Given the description of an element on the screen output the (x, y) to click on. 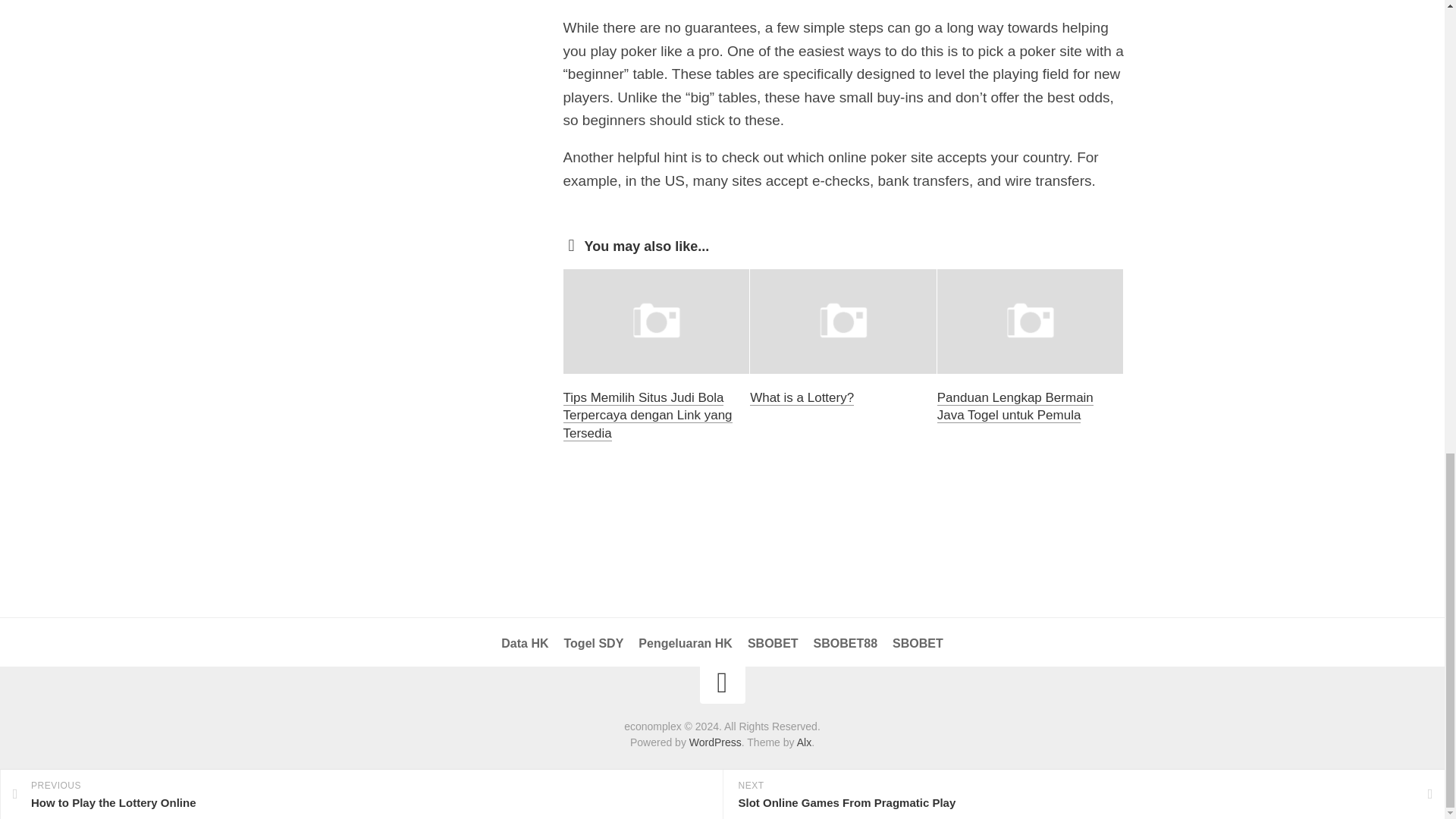
Pengeluaran HK (685, 643)
SBOBET88 (845, 643)
SBOBET (772, 643)
Panduan Lengkap Bermain Java Togel untuk Pemula (1015, 406)
SBOBET (917, 643)
What is a Lottery? (801, 397)
Togel SDY (594, 643)
Data HK (524, 643)
